Given the description of an element on the screen output the (x, y) to click on. 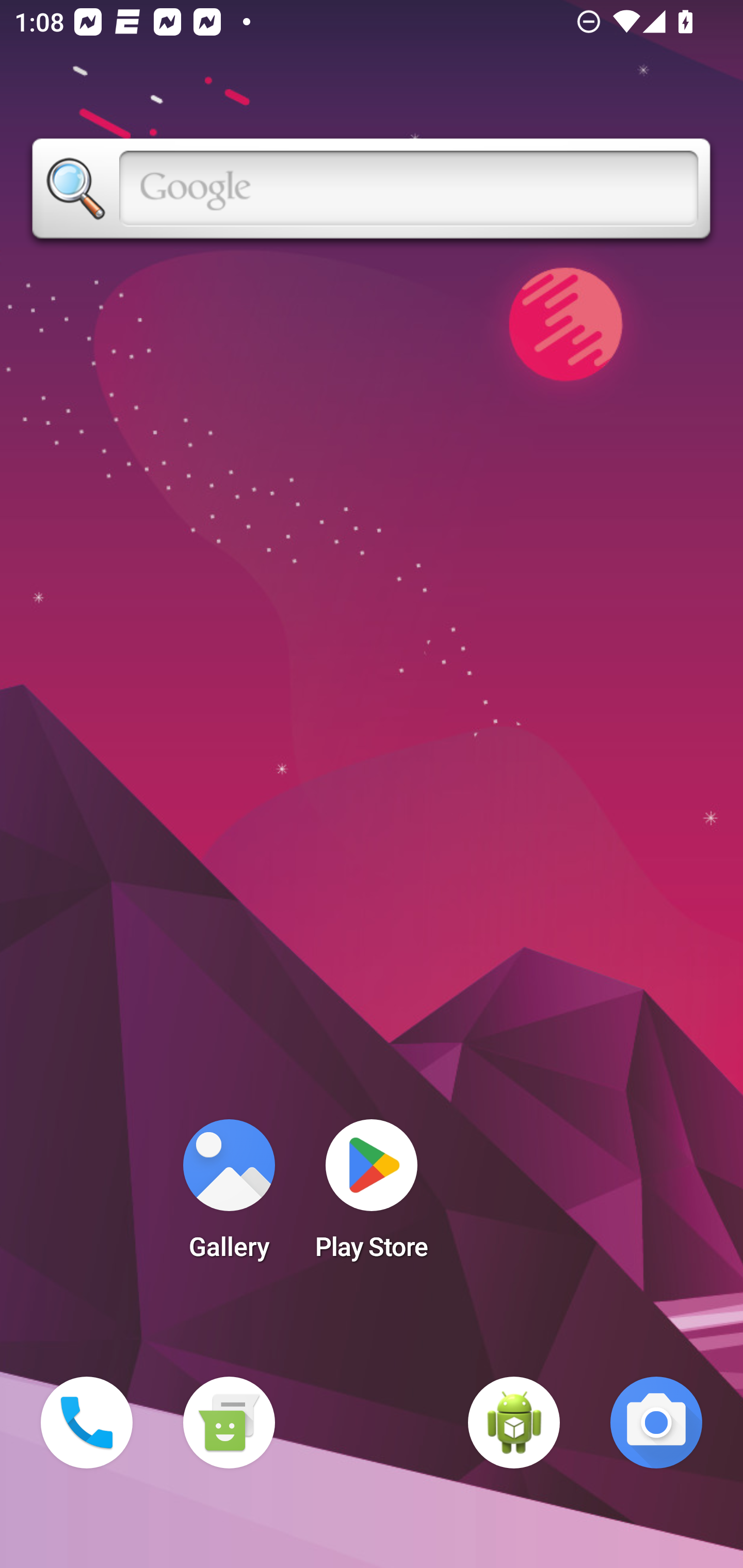
Gallery (228, 1195)
Play Store (371, 1195)
Phone (86, 1422)
Messaging (228, 1422)
WebView Browser Tester (513, 1422)
Camera (656, 1422)
